Given the description of an element on the screen output the (x, y) to click on. 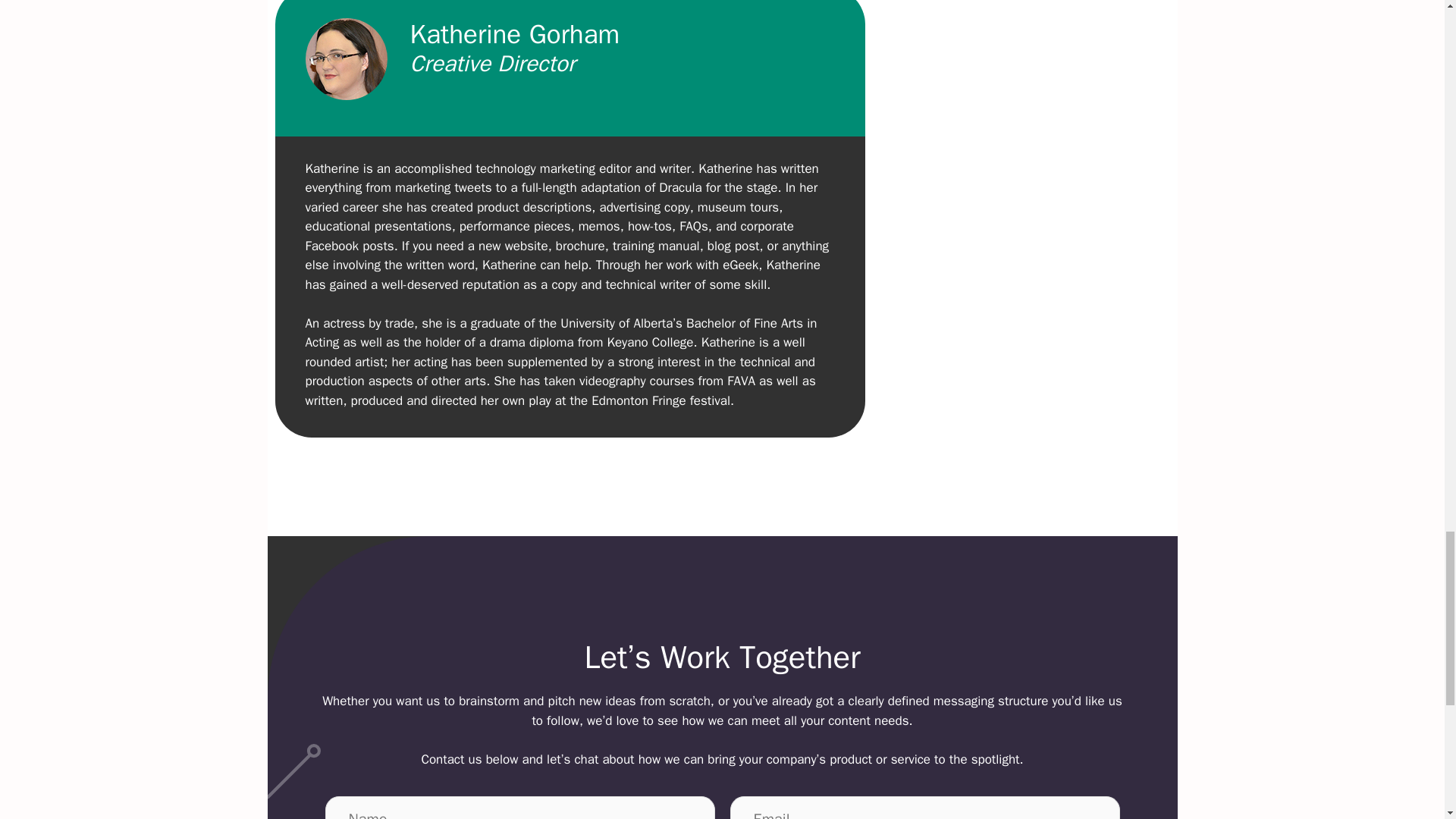
Name (519, 807)
Email (924, 807)
